Given the description of an element on the screen output the (x, y) to click on. 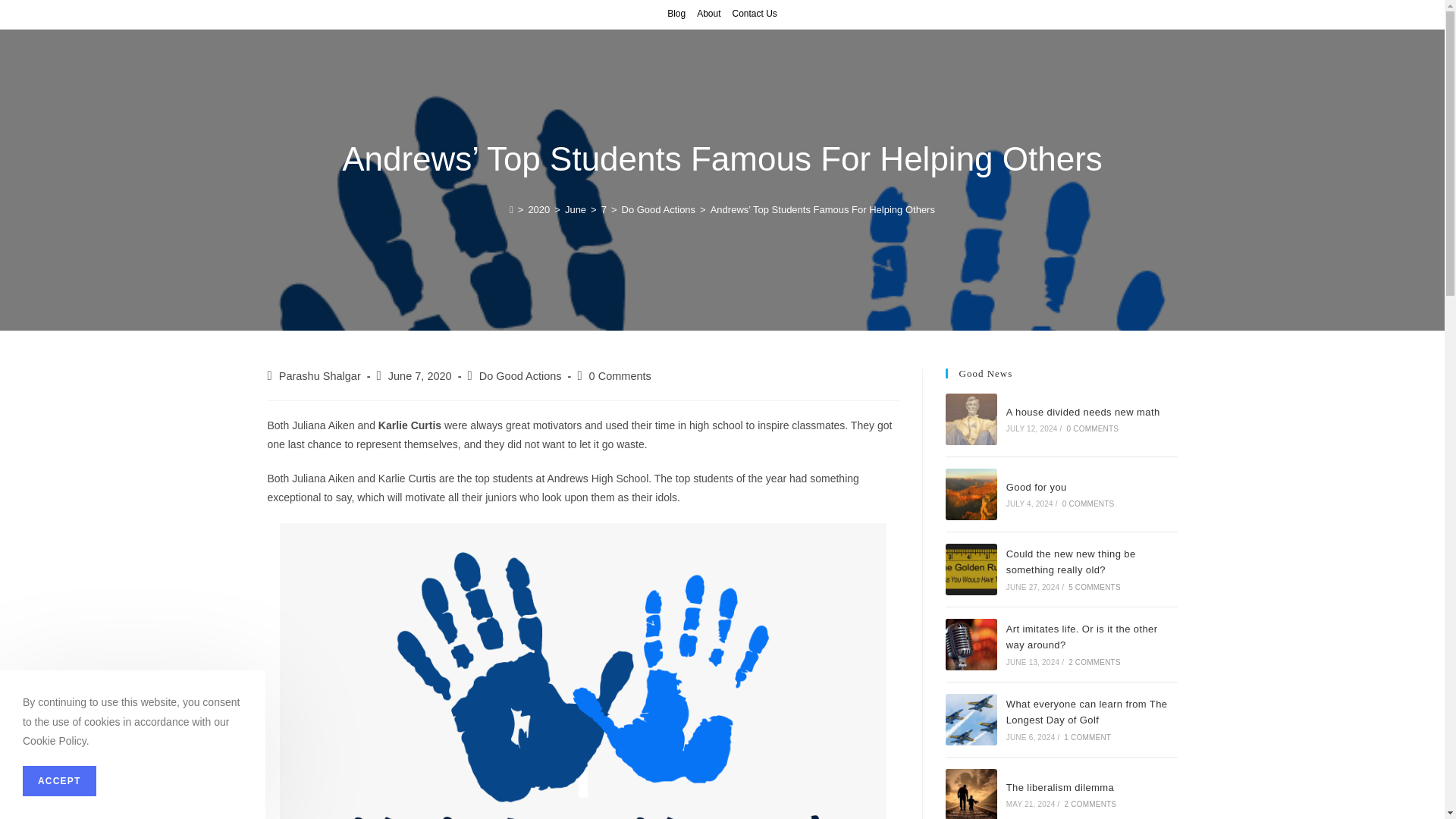
June (575, 209)
Parashu Shalgar (320, 376)
Could the new new thing be something really old? (969, 569)
What everyone can learn from The Longest Day of Golf (969, 719)
Posts by Parashu Shalgar (320, 376)
Good for you (969, 494)
About (708, 13)
2020 (538, 209)
A house divided needs new math (1083, 411)
0 COMMENTS (1093, 429)
Art imitates life. Or is it the other way around? (969, 644)
Do Good Actions (658, 209)
Blog (675, 13)
The liberalism dilemma (969, 794)
0 Comments (619, 376)
